Given the description of an element on the screen output the (x, y) to click on. 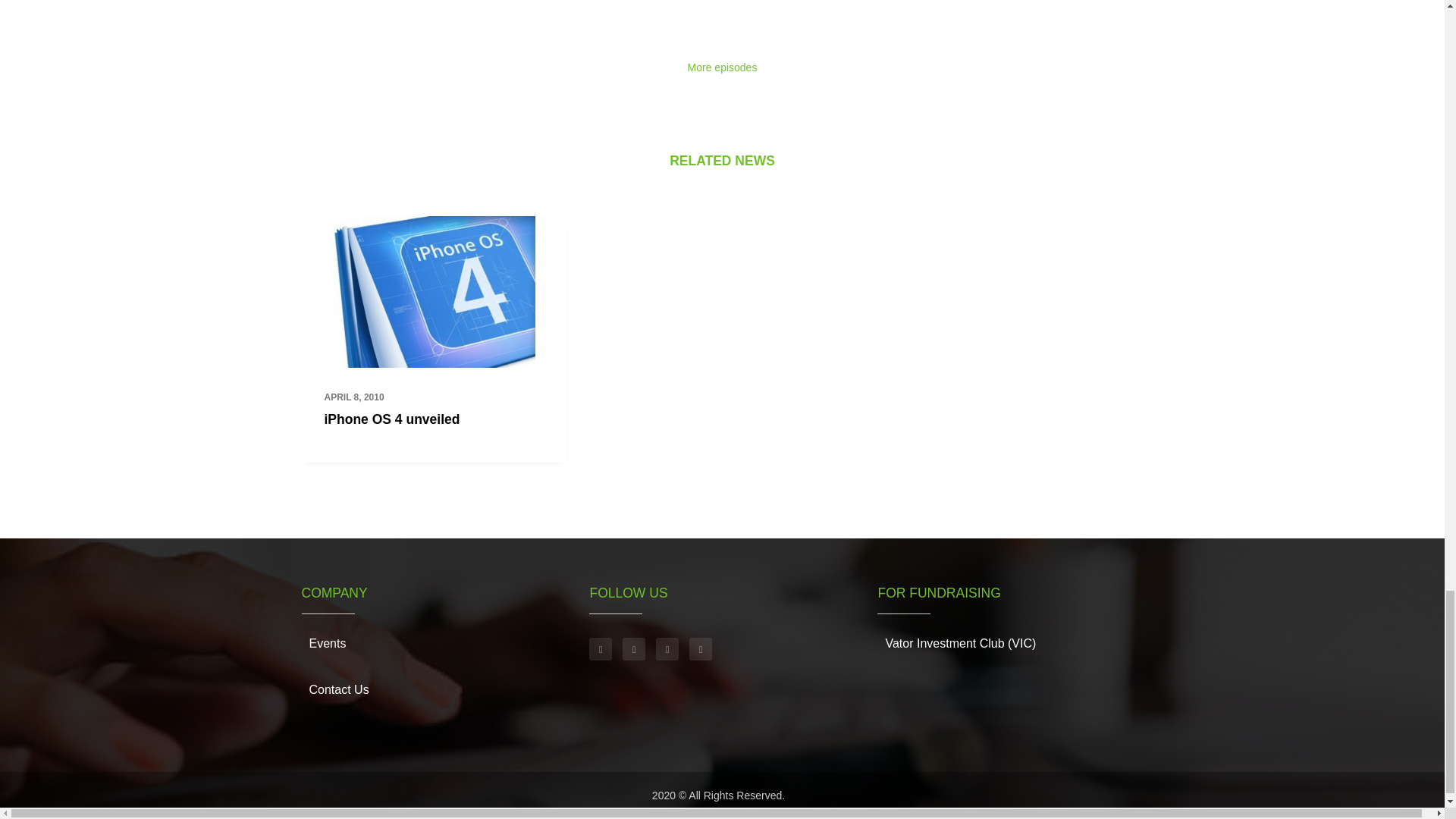
iPhone OS 4 unveiled (392, 418)
More episodes (722, 67)
Events (327, 643)
Contact Us (338, 690)
